Given the description of an element on the screen output the (x, y) to click on. 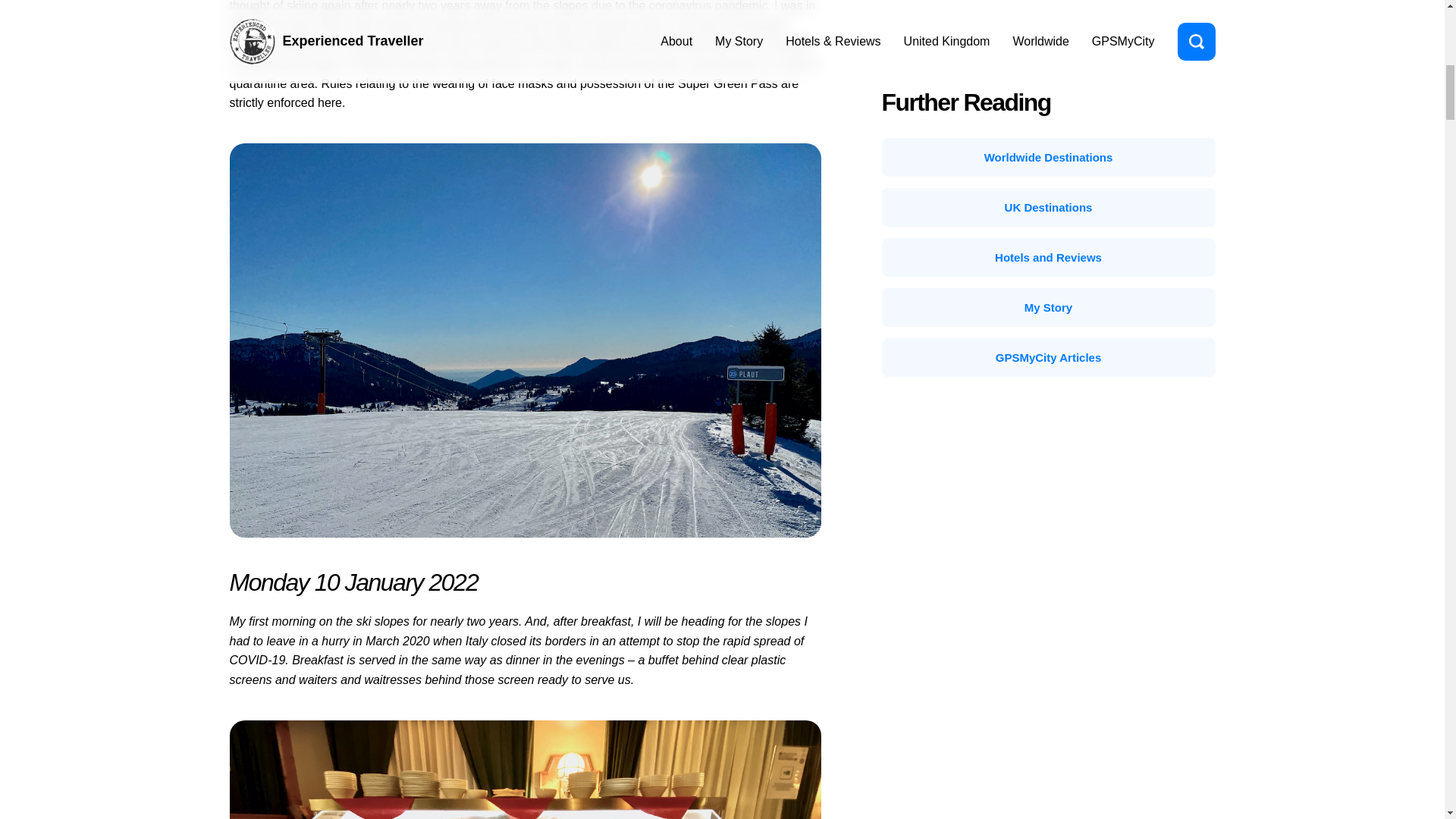
COVID Buffet at Club Hotel Alpino in Folgaria, Italy (524, 769)
